Given the description of an element on the screen output the (x, y) to click on. 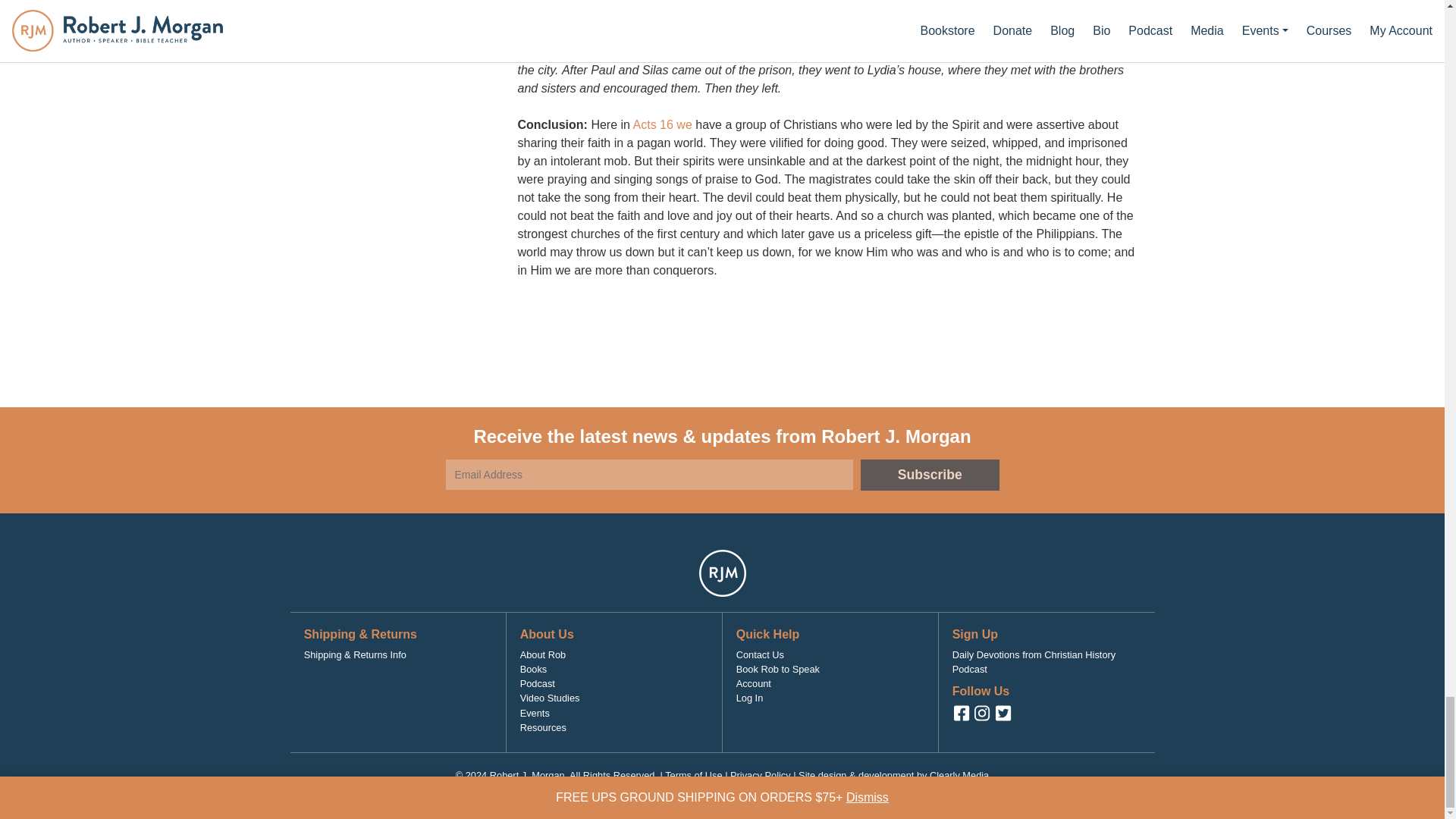
Acts 16 we (663, 124)
Subscribe (929, 474)
